Given the description of an element on the screen output the (x, y) to click on. 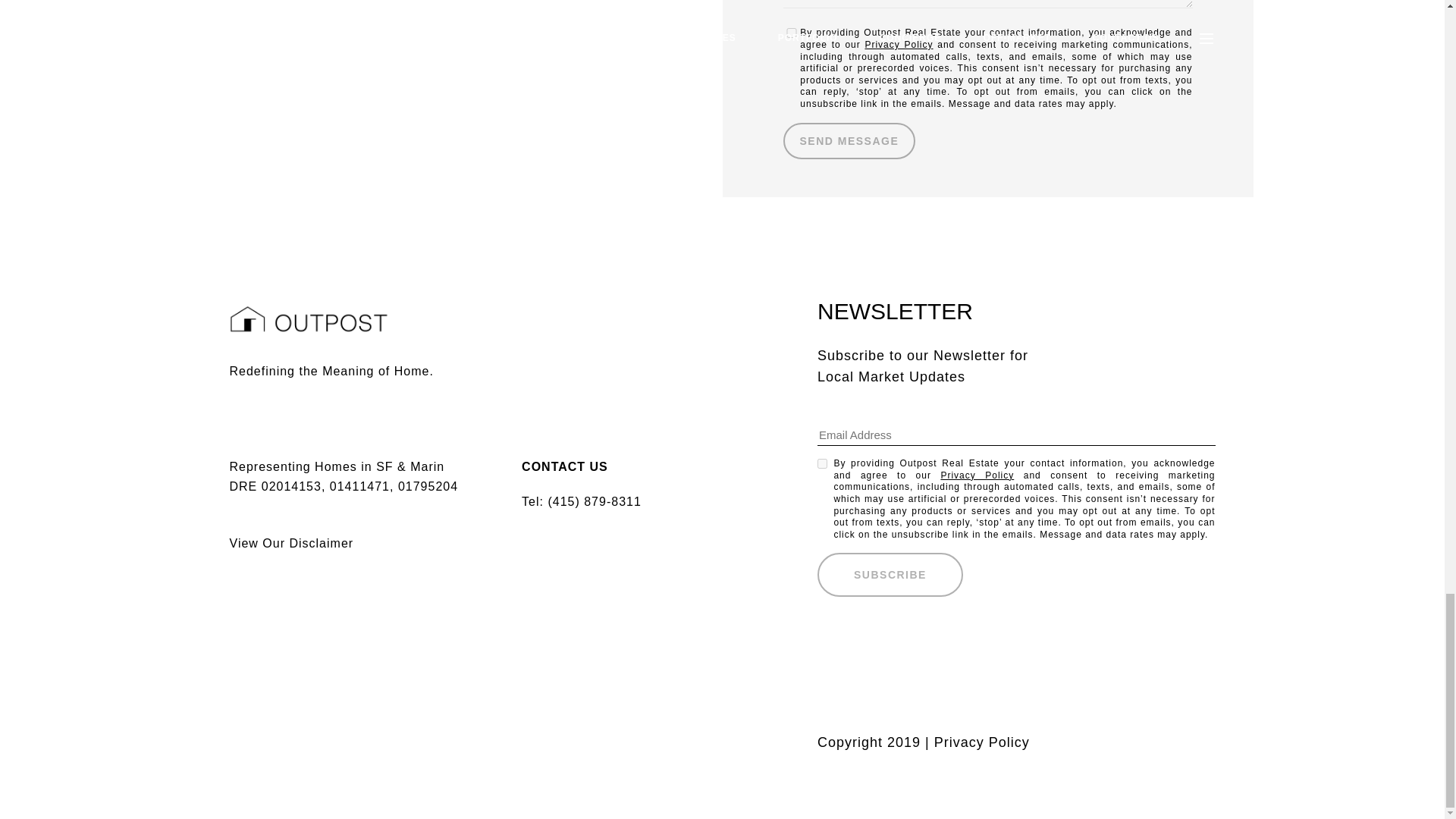
SEND MESSAGE (849, 140)
on (821, 463)
on (791, 32)
SUBSCRIBE (889, 574)
Privacy Policy (898, 44)
